Given the description of an element on the screen output the (x, y) to click on. 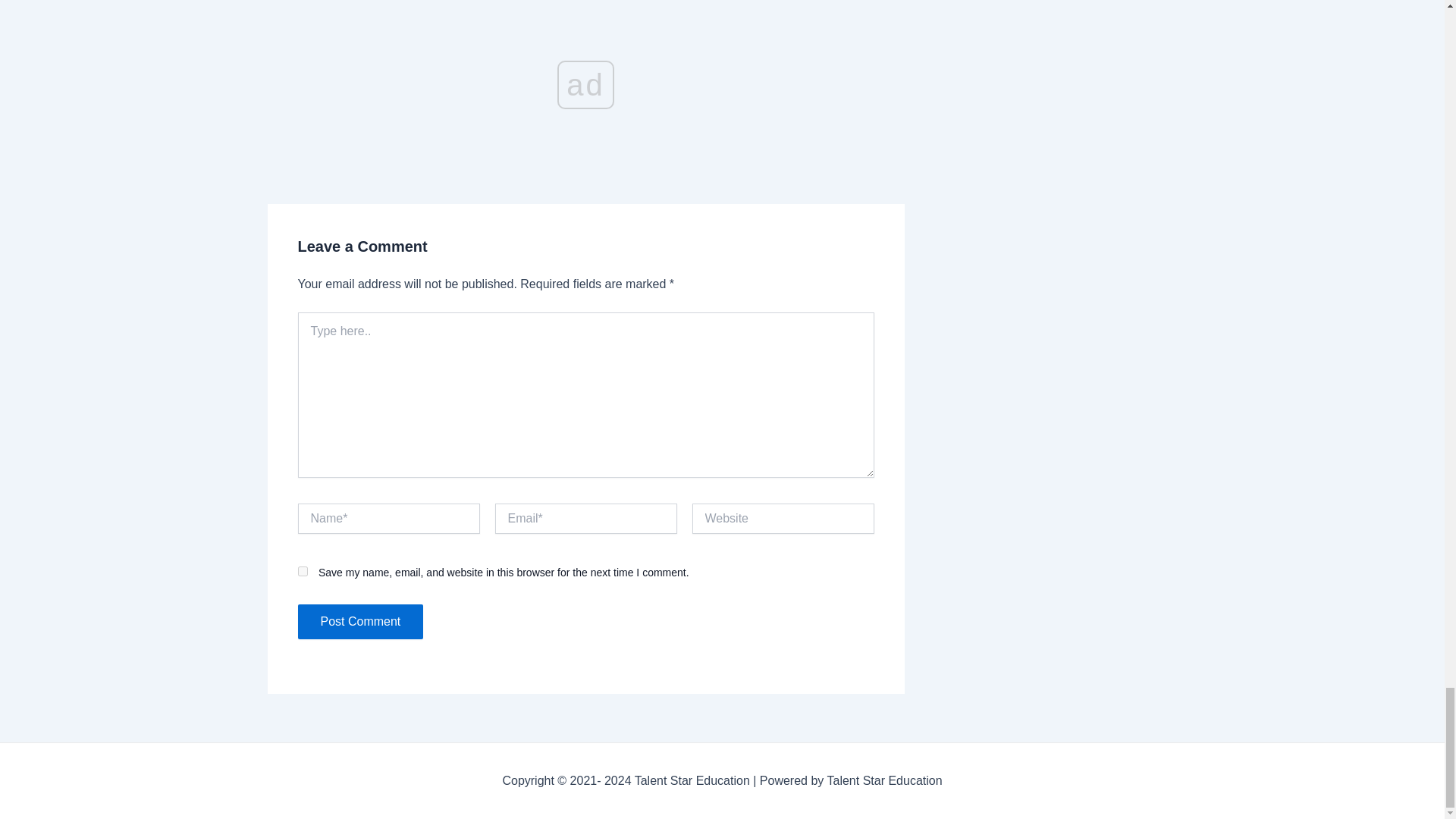
yes (302, 571)
Post Comment (360, 621)
